Given the description of an element on the screen output the (x, y) to click on. 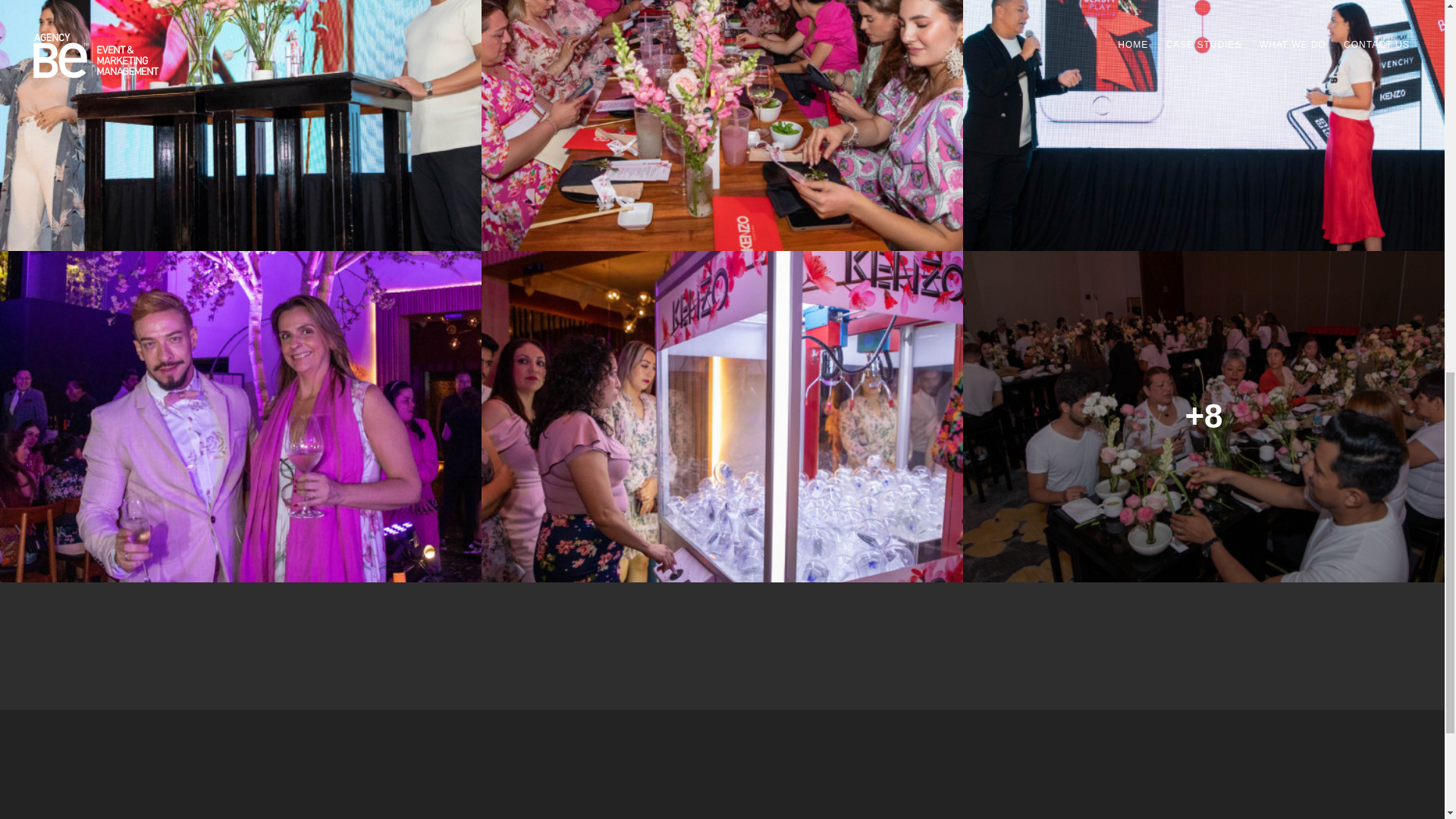
See photo (721, 125)
See photo (240, 125)
